Given the description of an element on the screen output the (x, y) to click on. 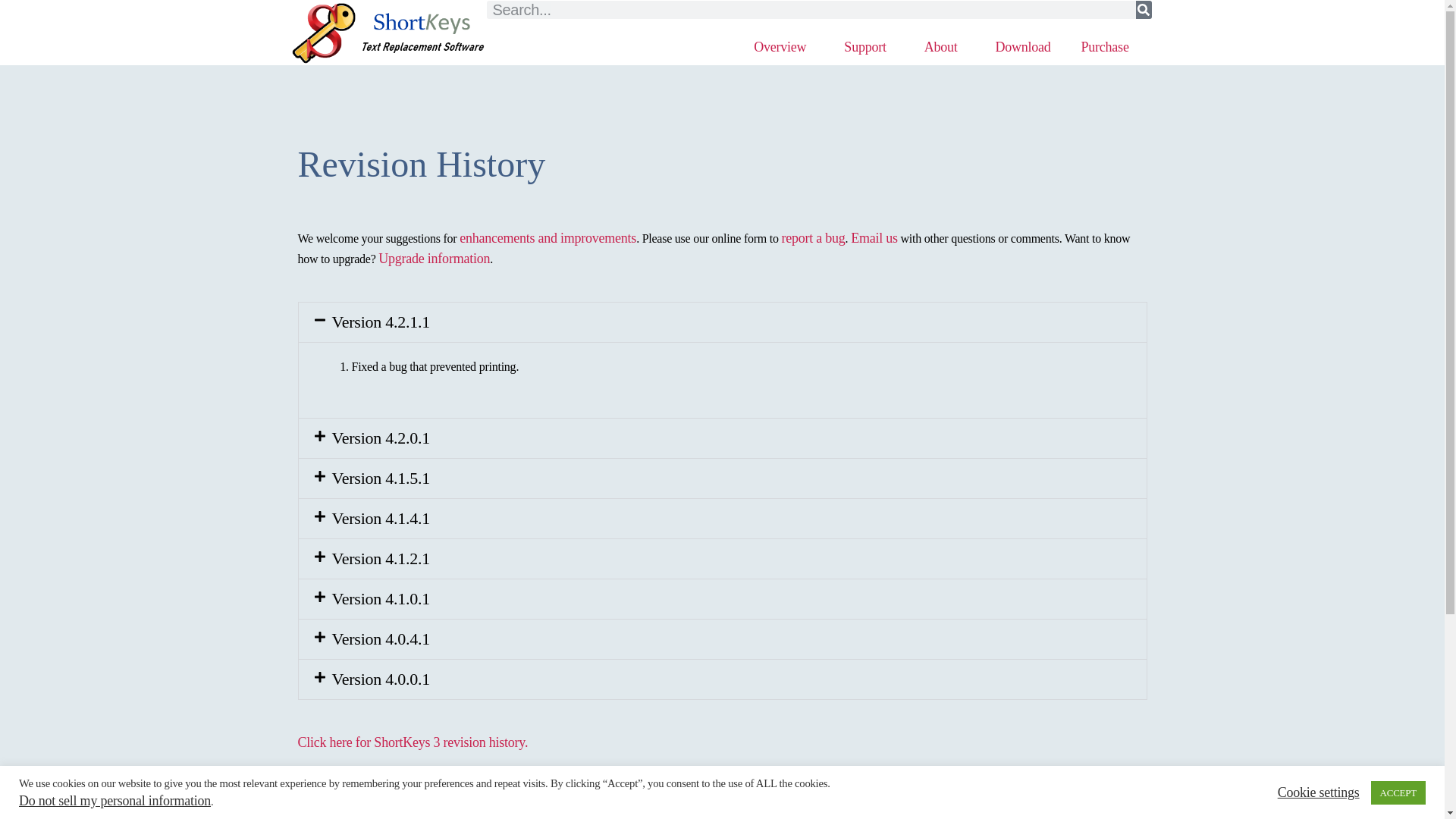
Download (1022, 46)
Purchase (1108, 46)
ShortKeys (322, 32)
About (943, 46)
Overview (783, 46)
ShortKeys (421, 32)
Support (868, 46)
